Given the description of an element on the screen output the (x, y) to click on. 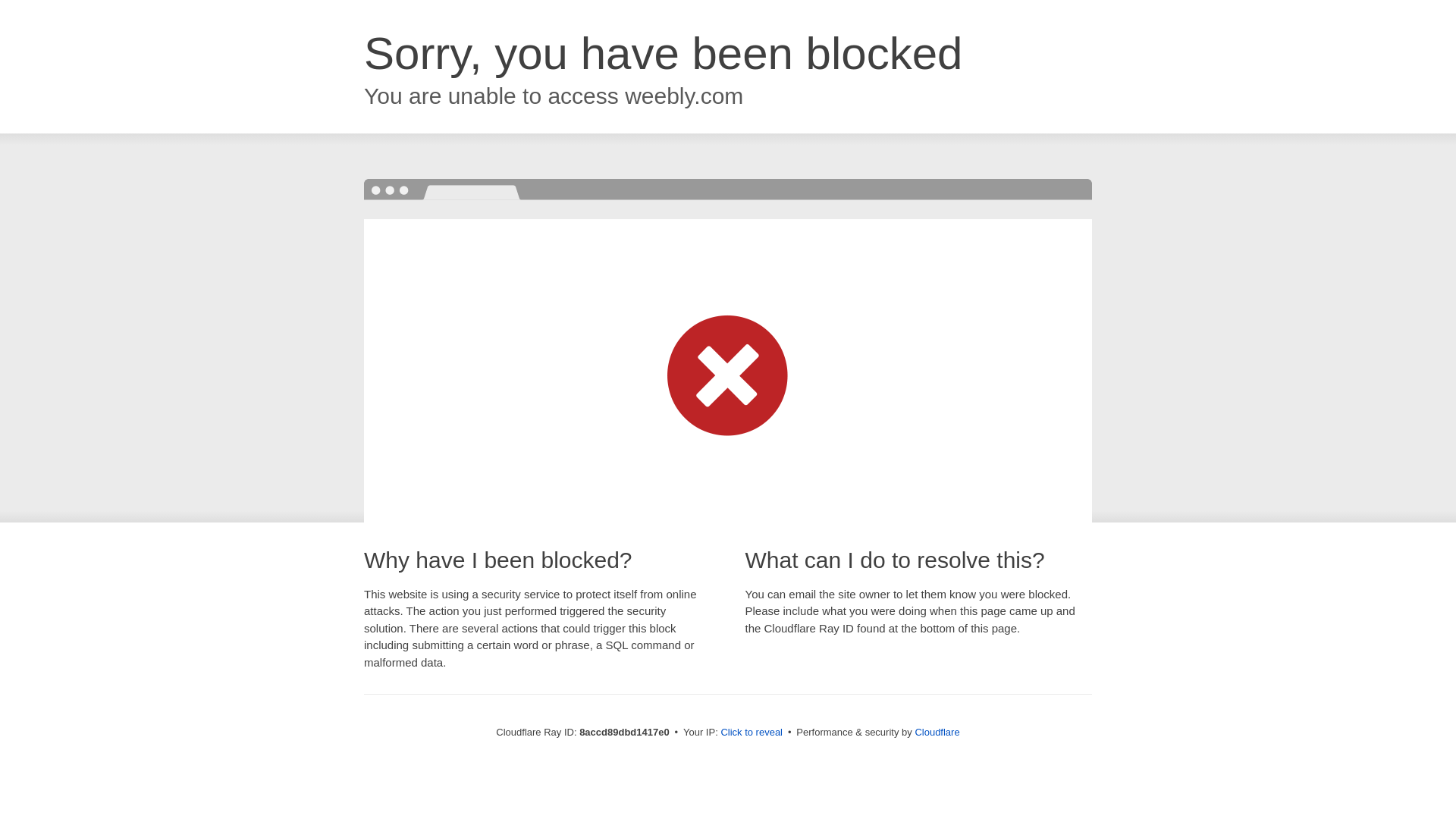
Cloudflare (936, 731)
Click to reveal (751, 732)
